Given the description of an element on the screen output the (x, y) to click on. 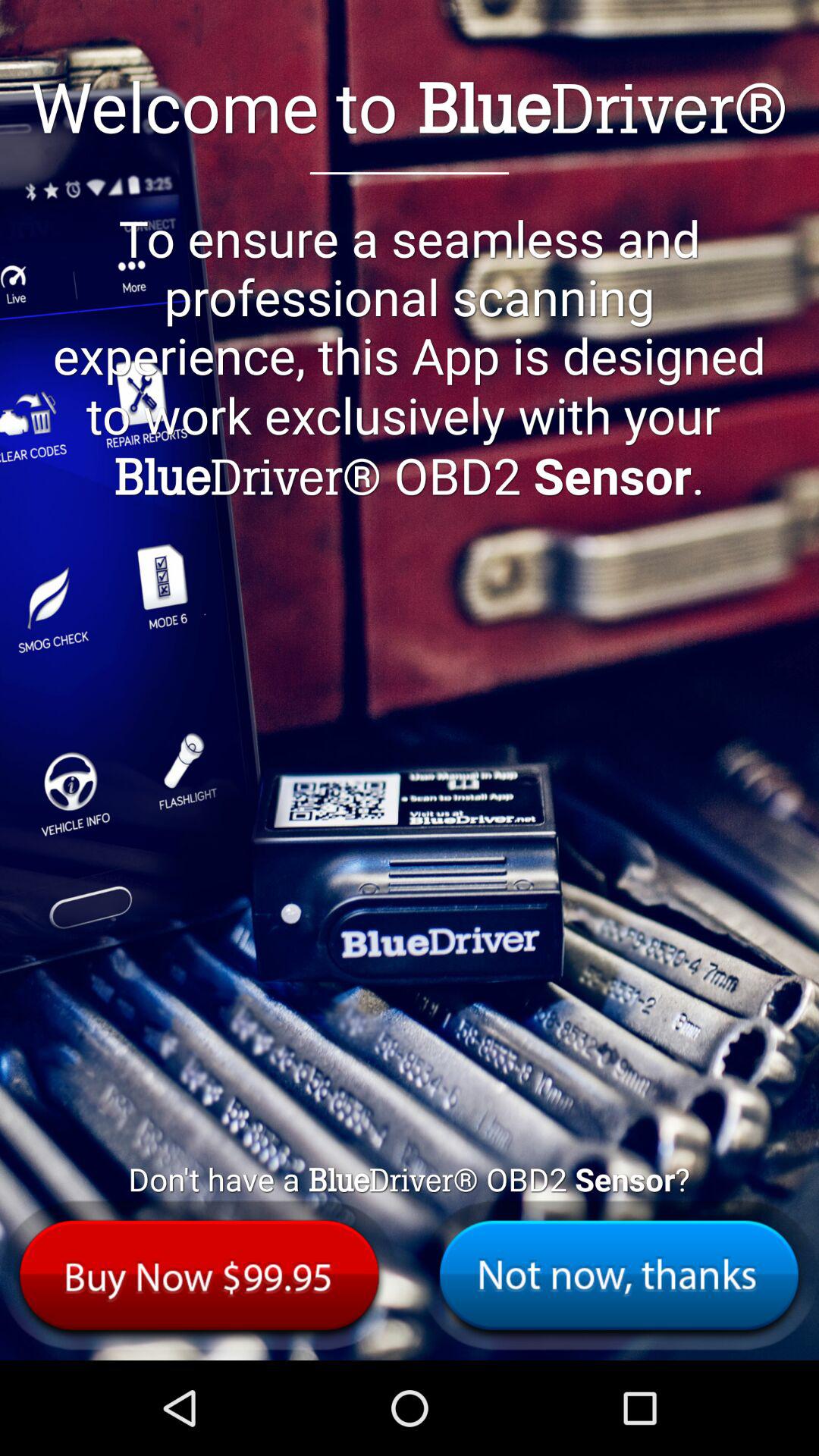
go back (619, 1275)
